Given the description of an element on the screen output the (x, y) to click on. 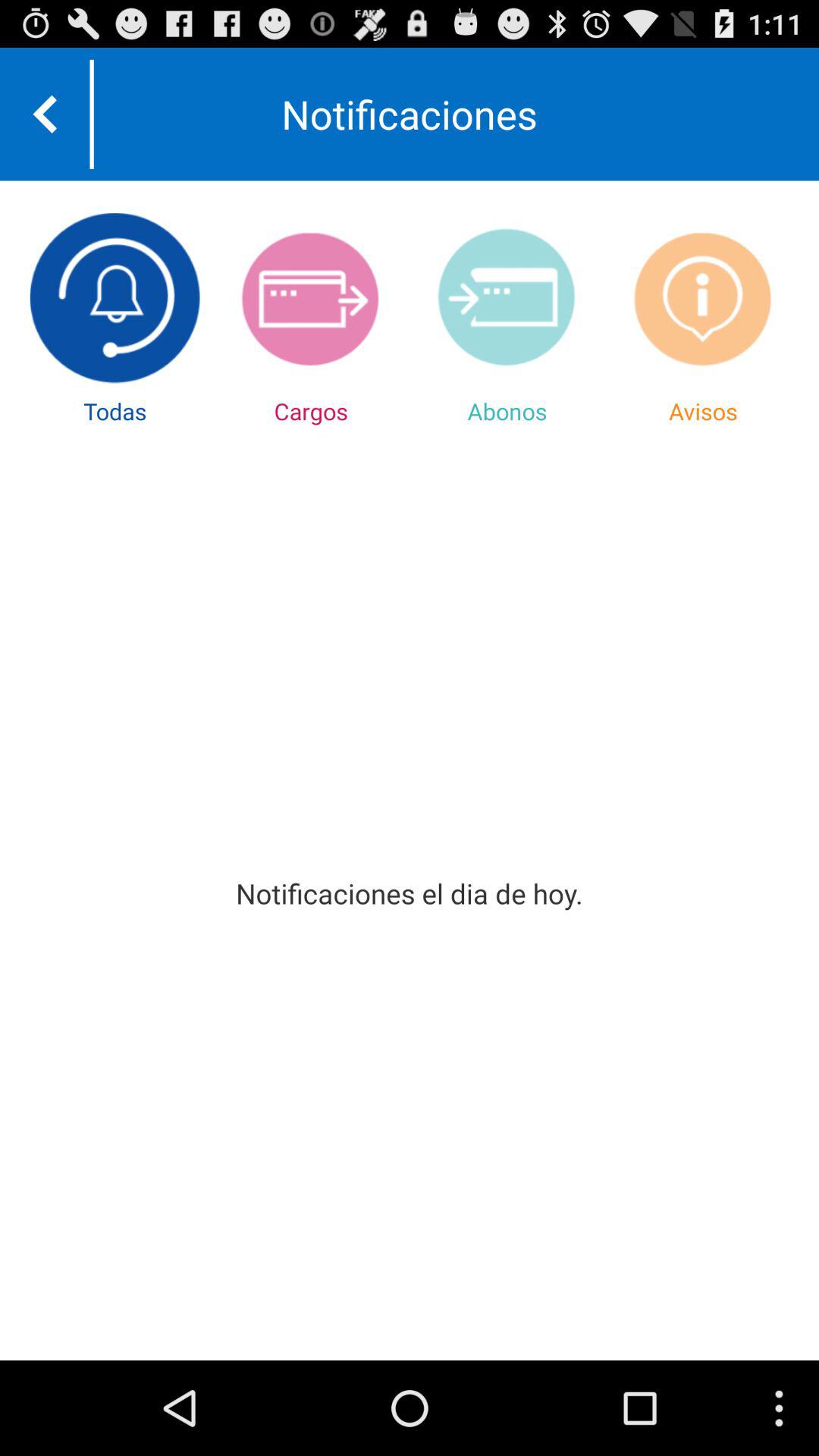
go to the previous page (44, 113)
